Given the description of an element on the screen output the (x, y) to click on. 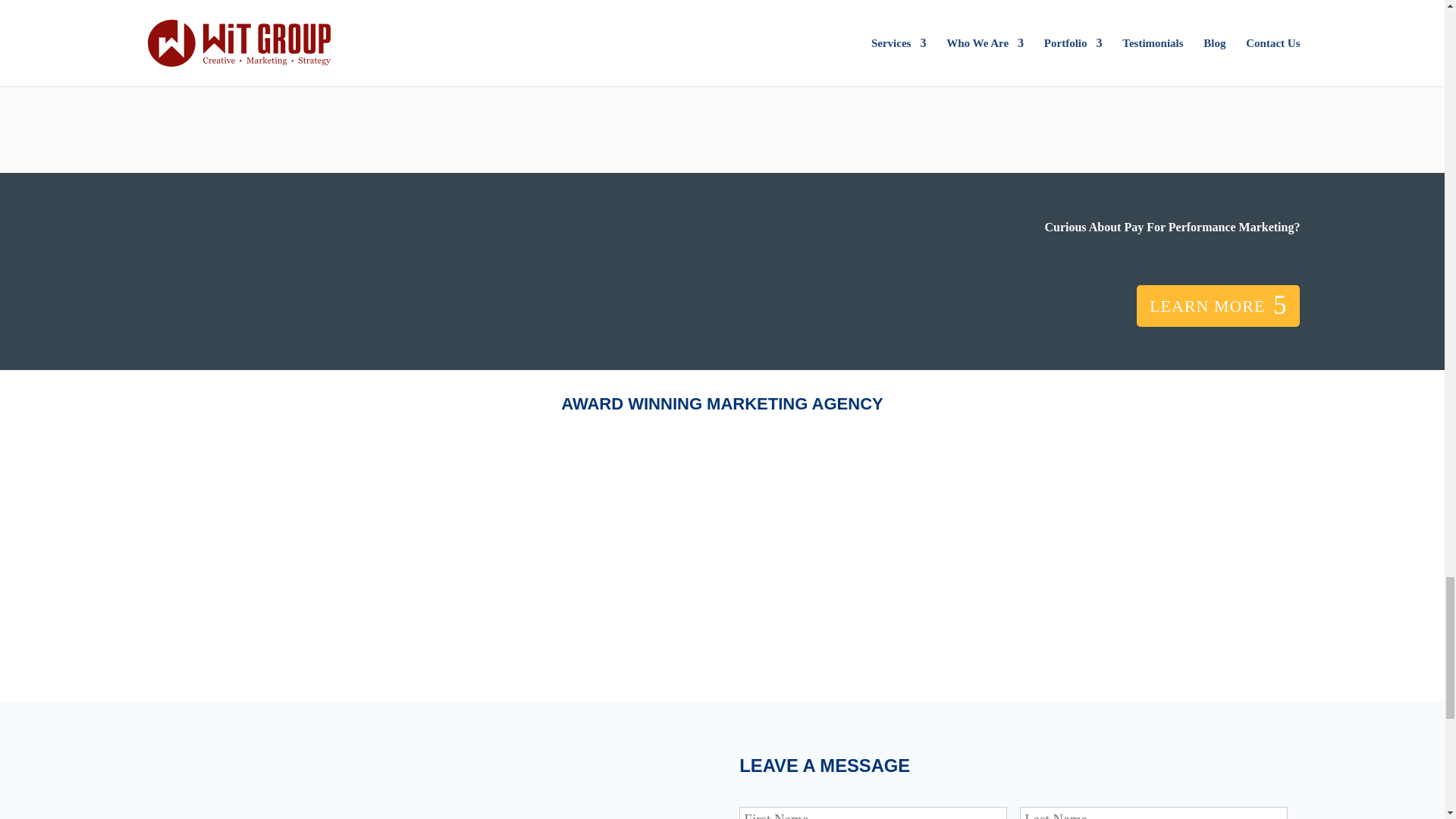
benzinga trust logo (935, 65)
top conversion optimization company charlotte 2023 (1230, 552)
2022 media innovator award logo (416, 553)
best advertising agencies charlotte nc 2023 (1026, 553)
google news trust logo (651, 65)
ncn trust logo (1077, 65)
fox news trust logo (365, 65)
usa today trust logo (508, 65)
Best Facebook Marketing Agency Charlotte (823, 553)
digital journal trust logo (793, 65)
